Given the description of an element on the screen output the (x, y) to click on. 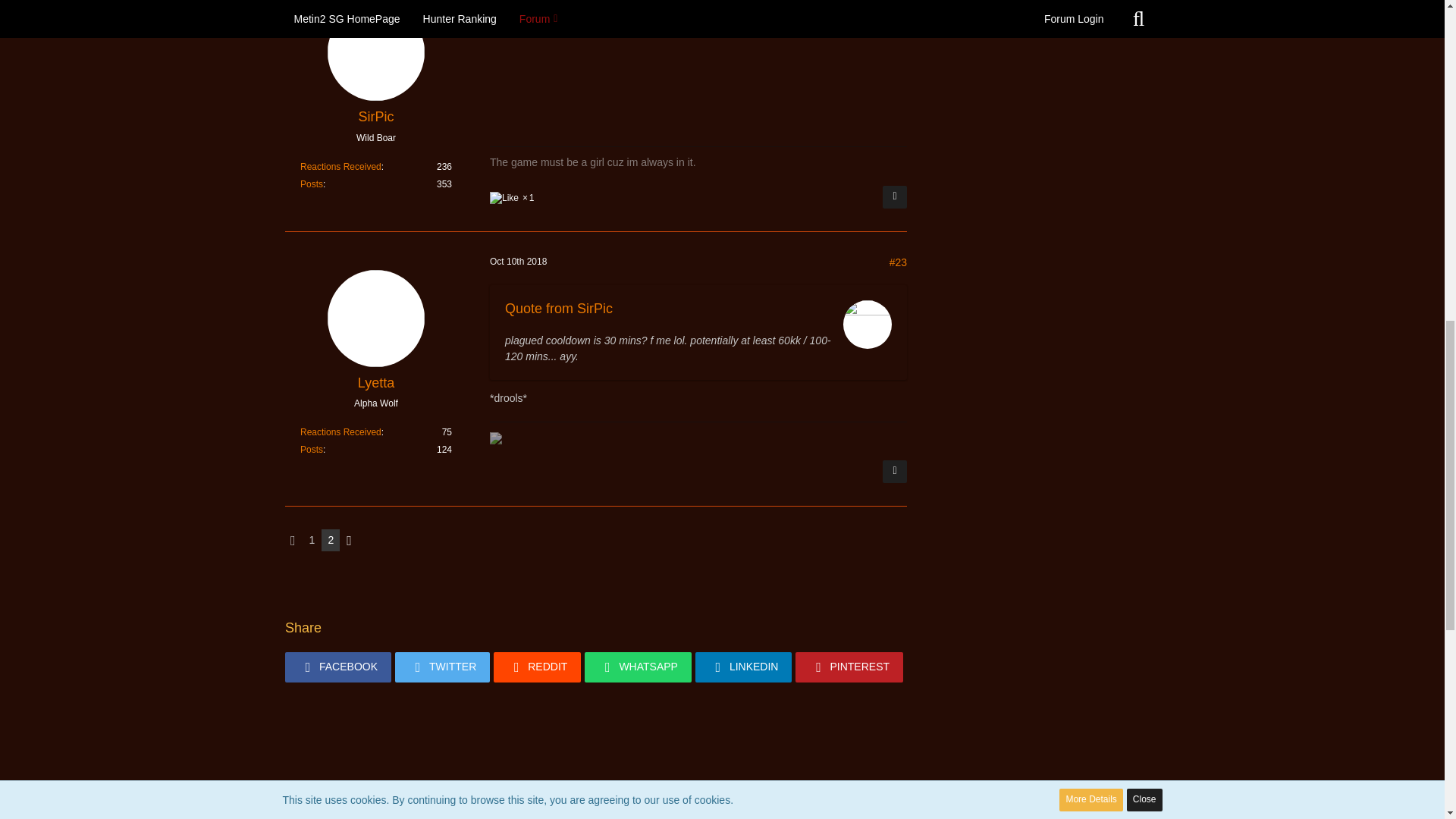
SirPic (375, 117)
Twitter (441, 666)
LinkedIn (743, 666)
Reddit (536, 666)
Facebook (338, 666)
Pinterest (848, 666)
WhatsApp (638, 666)
